Given the description of an element on the screen output the (x, y) to click on. 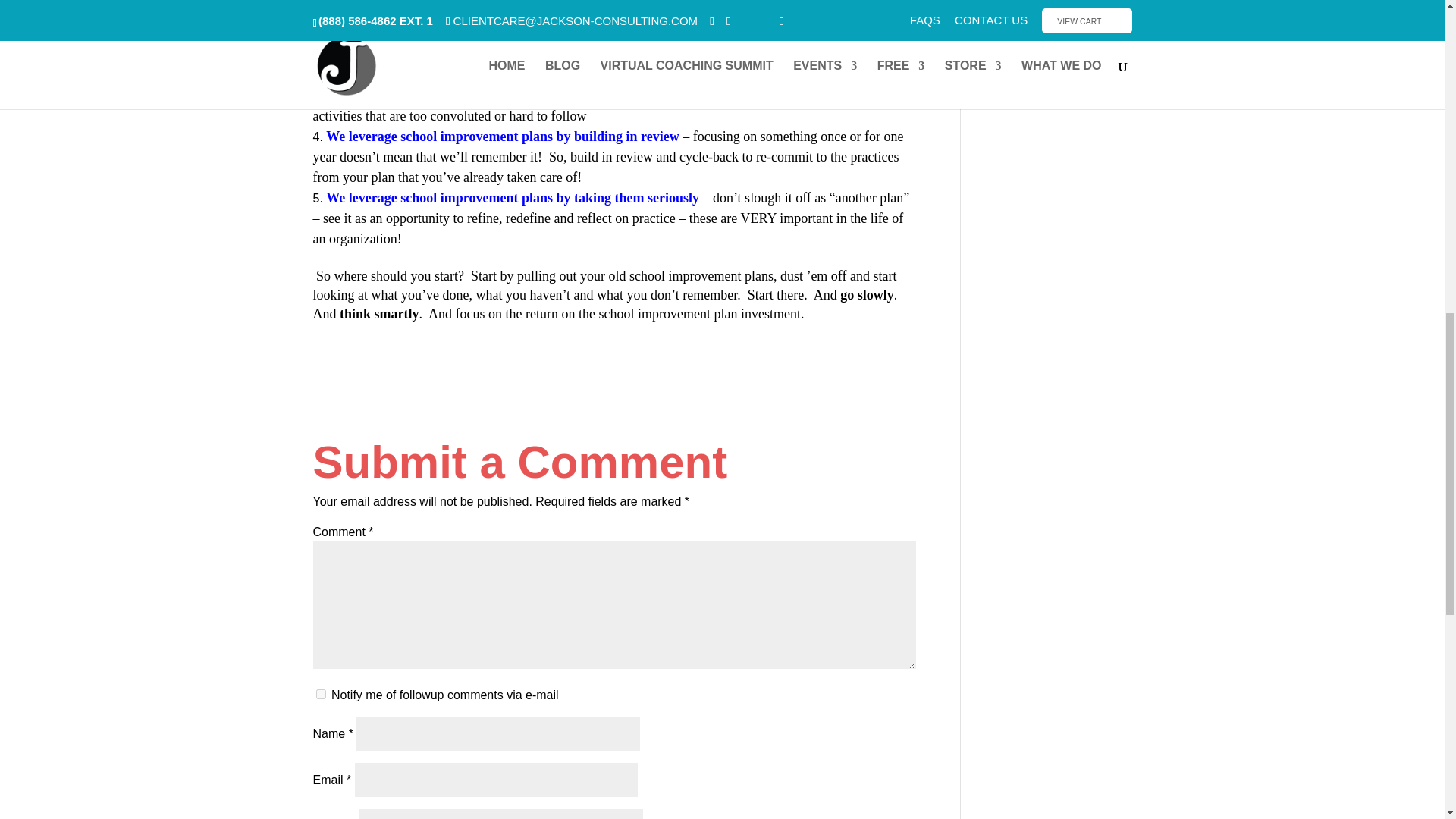
subscribe (319, 694)
